Given the description of an element on the screen output the (x, y) to click on. 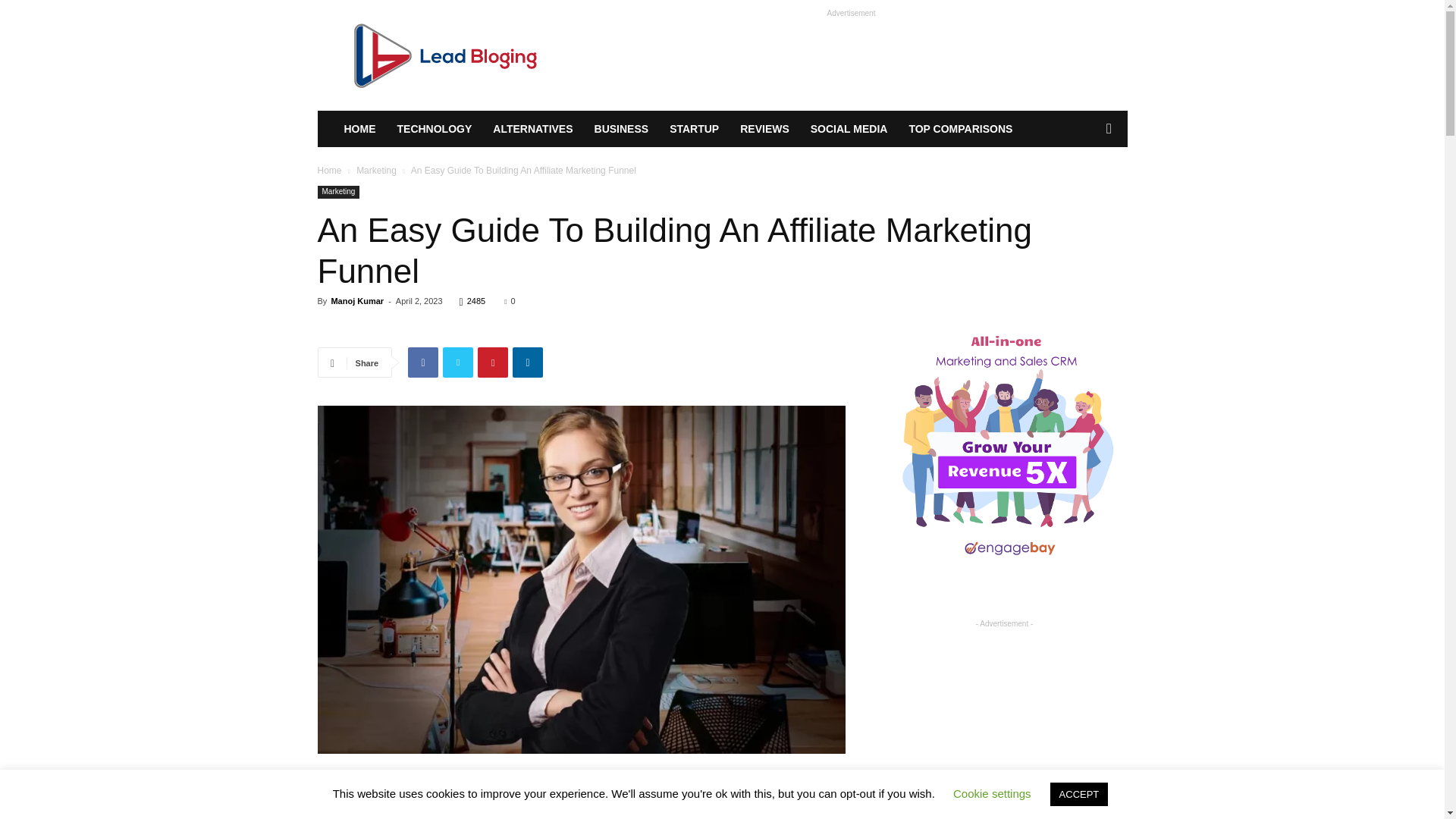
BUSINESS (621, 128)
STARTUP (694, 128)
View all posts in Marketing (376, 170)
TOP COMPARISONS (960, 128)
TECHNOLOGY (435, 128)
Advertisement (580, 796)
HOME (360, 128)
ALTERNATIVES (532, 128)
0 (509, 300)
Home (328, 170)
Marketing (338, 192)
Marketing (376, 170)
Advertisement (850, 55)
Manoj Kumar (357, 300)
